Given the description of an element on the screen output the (x, y) to click on. 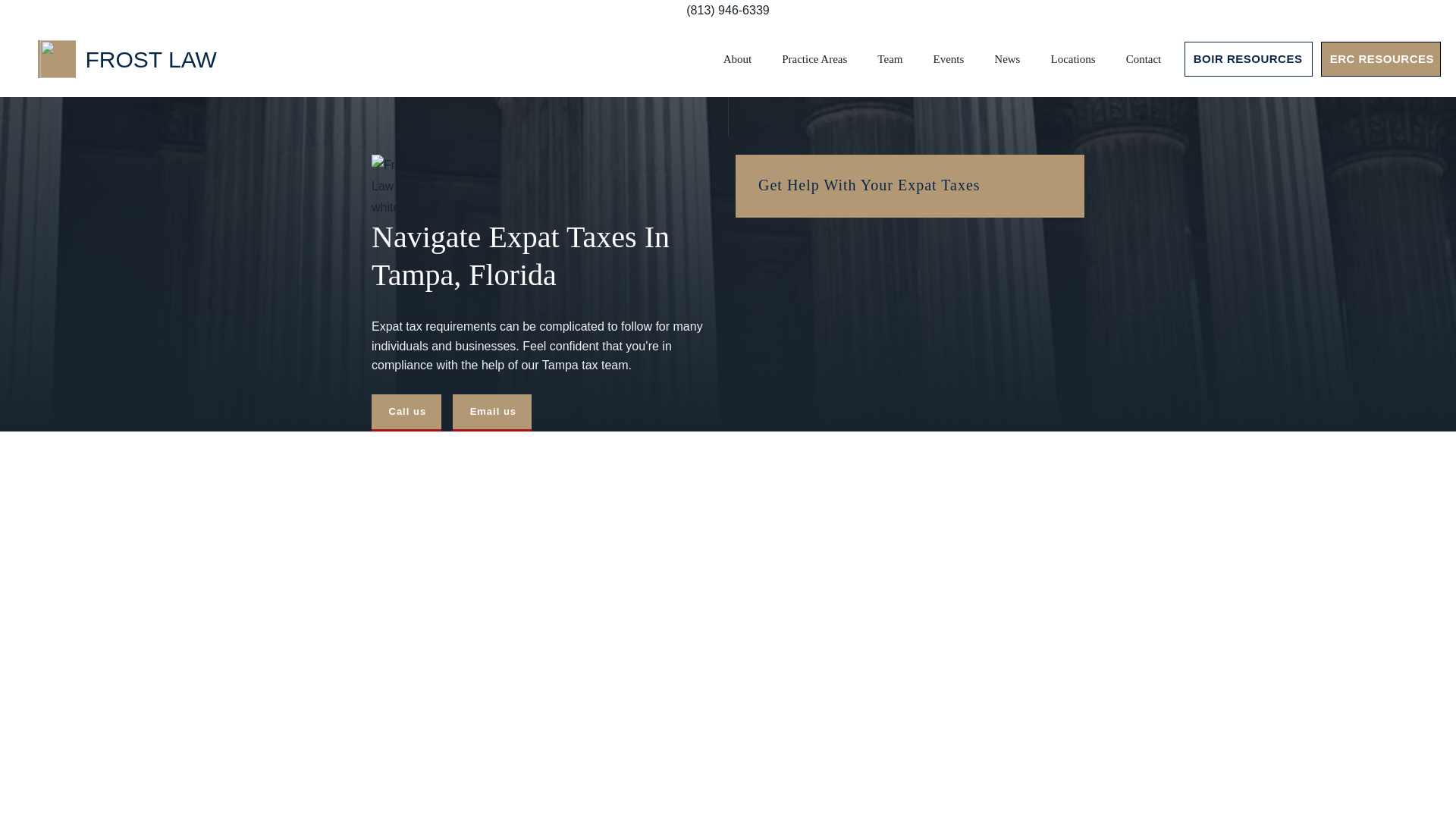
Call us (406, 412)
BOIR RESOURCES  (1249, 58)
News (1006, 58)
Practice Areas (814, 58)
Contact (1143, 58)
Team (889, 58)
About (737, 58)
FROST LAW (126, 58)
Events (947, 58)
ERC RESOURCES (1380, 58)
